Given the description of an element on the screen output the (x, y) to click on. 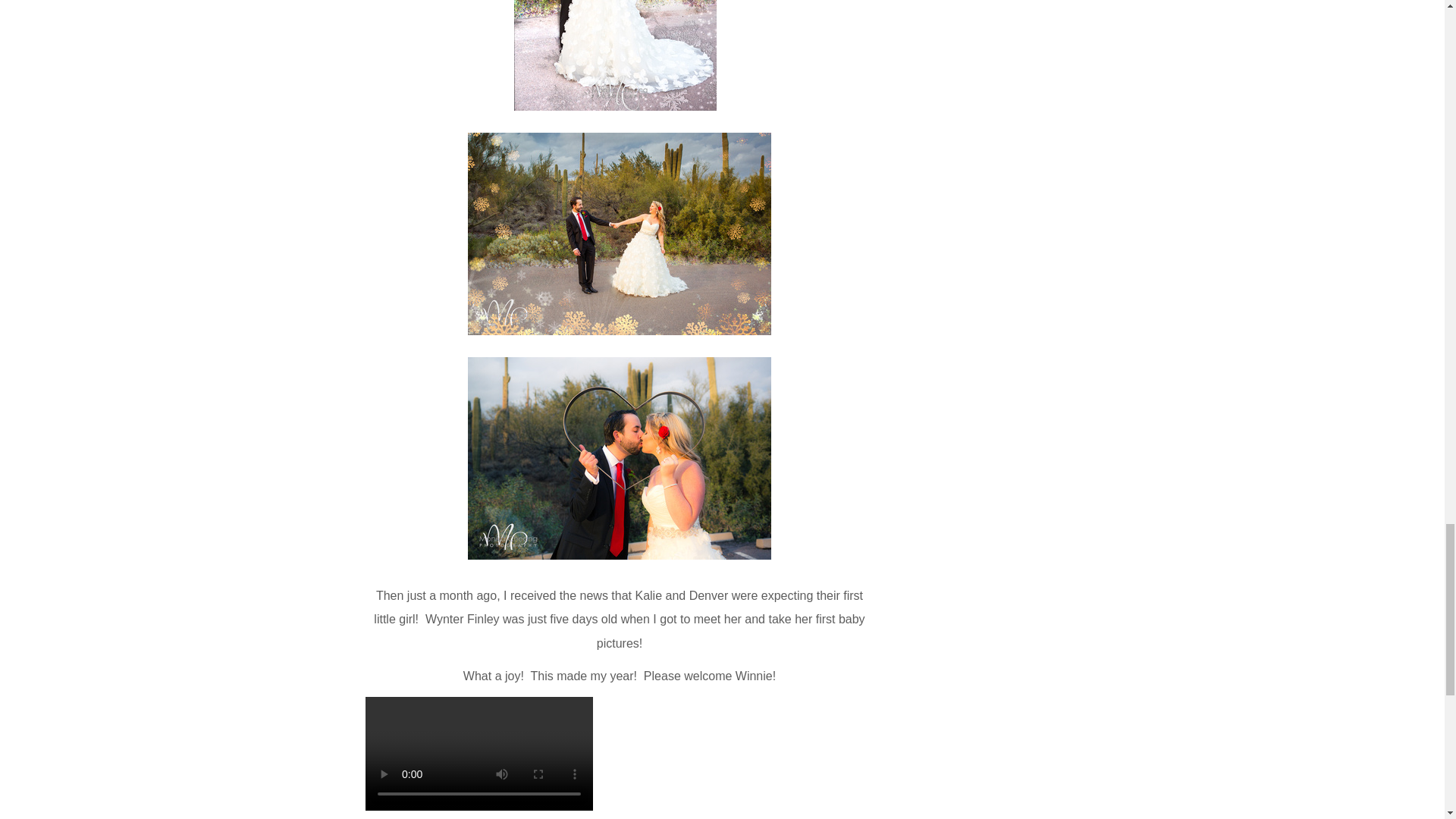
Video Player (692, 757)
